Given the description of an element on the screen output the (x, y) to click on. 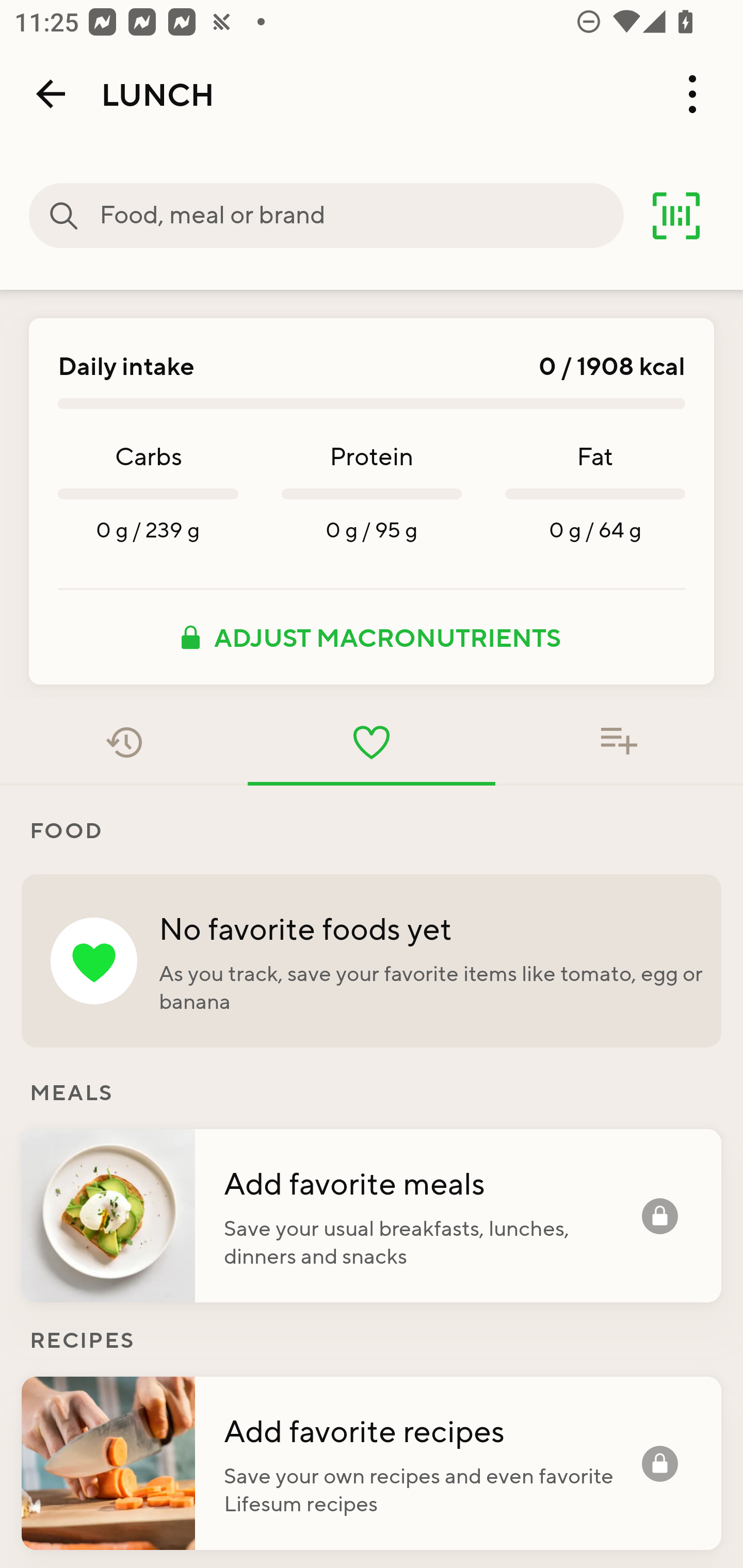
Back (50, 93)
Food, meal or brand (63, 215)
Food, meal or brand (361, 215)
ADJUST MACRONUTRIENTS (371, 637)
Recent (123, 742)
Food added (619, 742)
Add favorite meals (432, 1182)
Add favorite recipes (432, 1429)
